Given the description of an element on the screen output the (x, y) to click on. 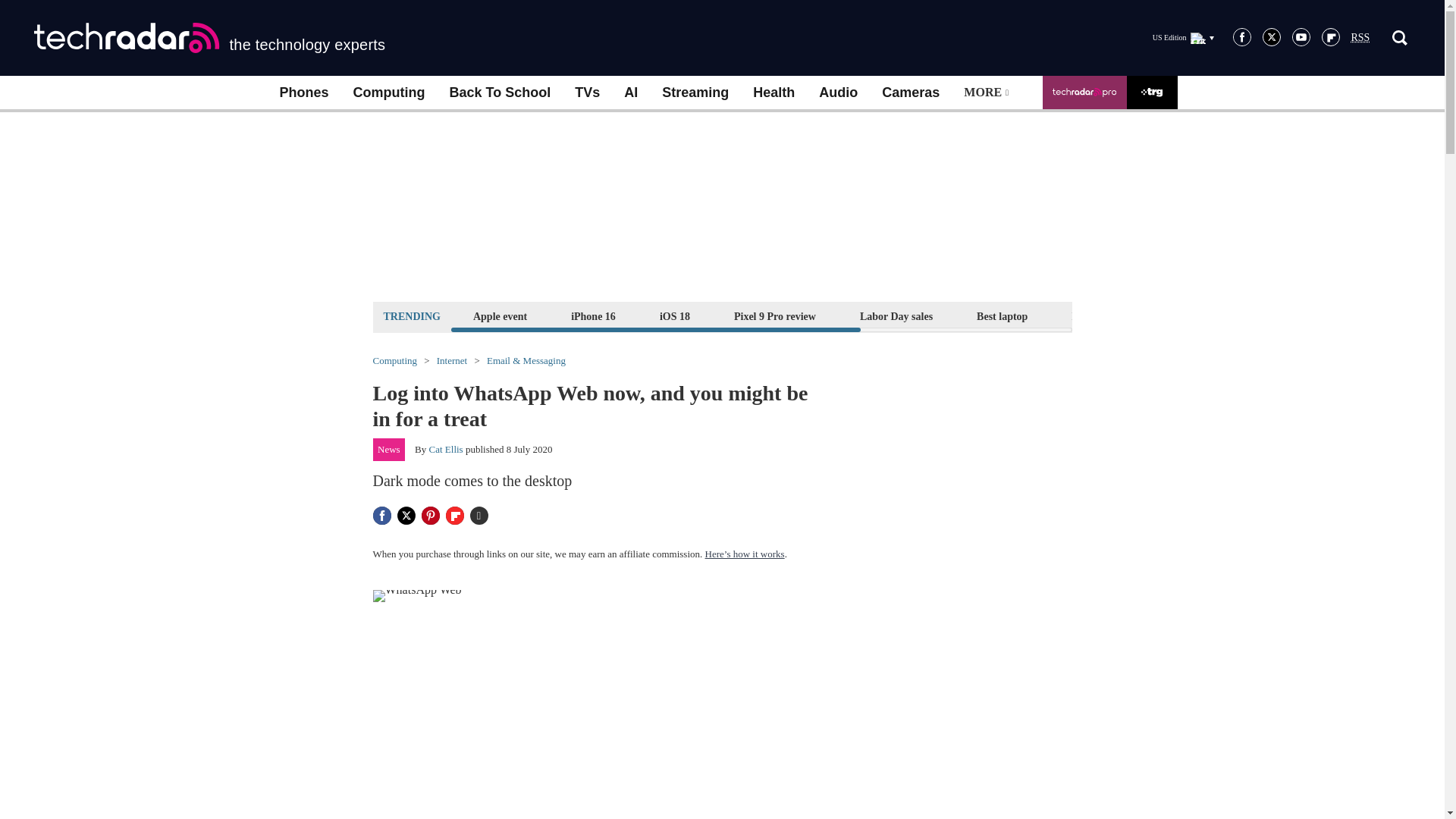
US Edition (1182, 37)
TVs (586, 92)
Computing (389, 92)
Phones (303, 92)
Audio (837, 92)
AI (630, 92)
Really Simple Syndication (1360, 37)
Health (773, 92)
Back To School (499, 92)
Cameras (910, 92)
